Given the description of an element on the screen output the (x, y) to click on. 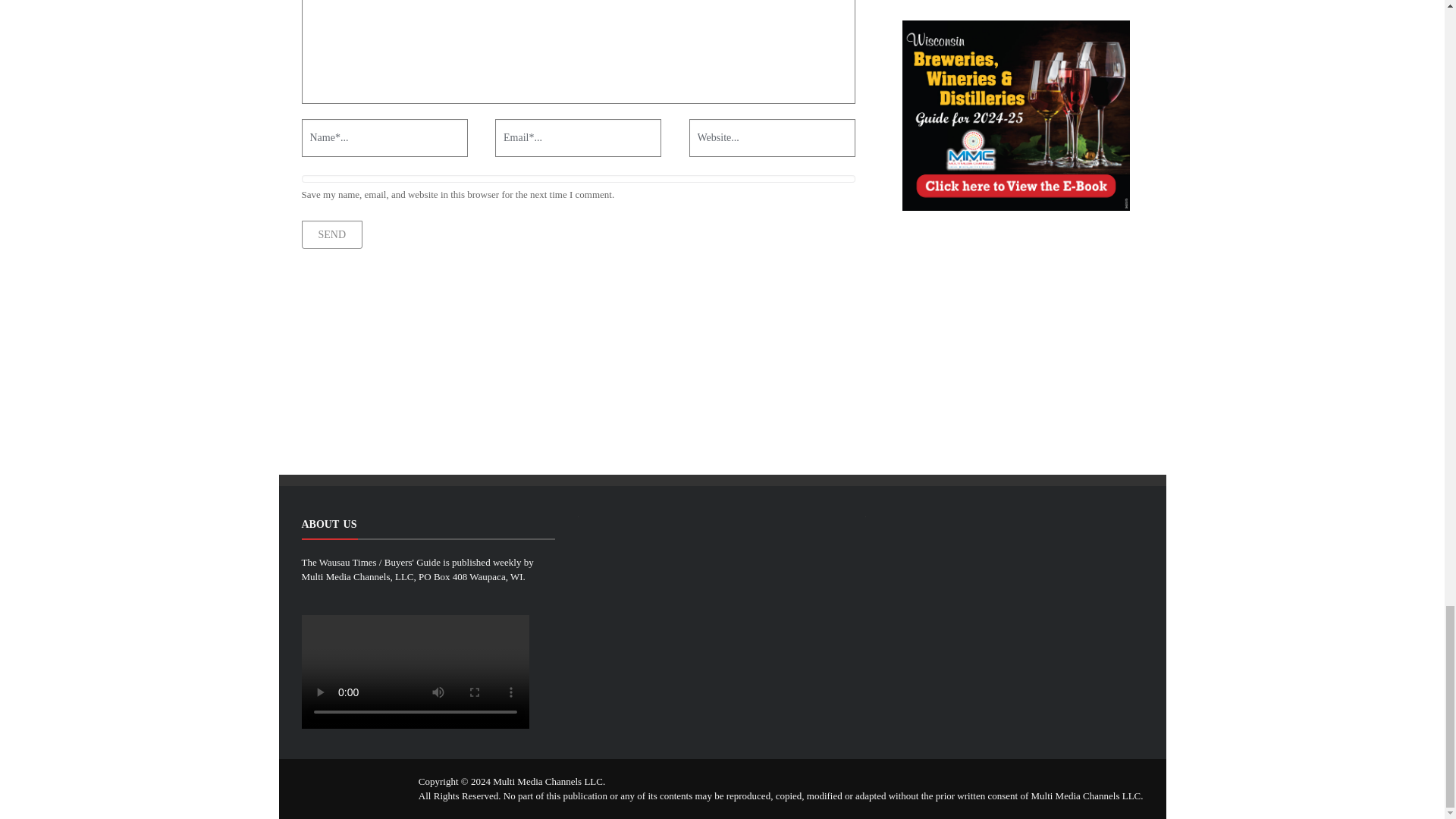
Send (331, 234)
yes (578, 178)
Advertisement (1002, 341)
